Given the description of an element on the screen output the (x, y) to click on. 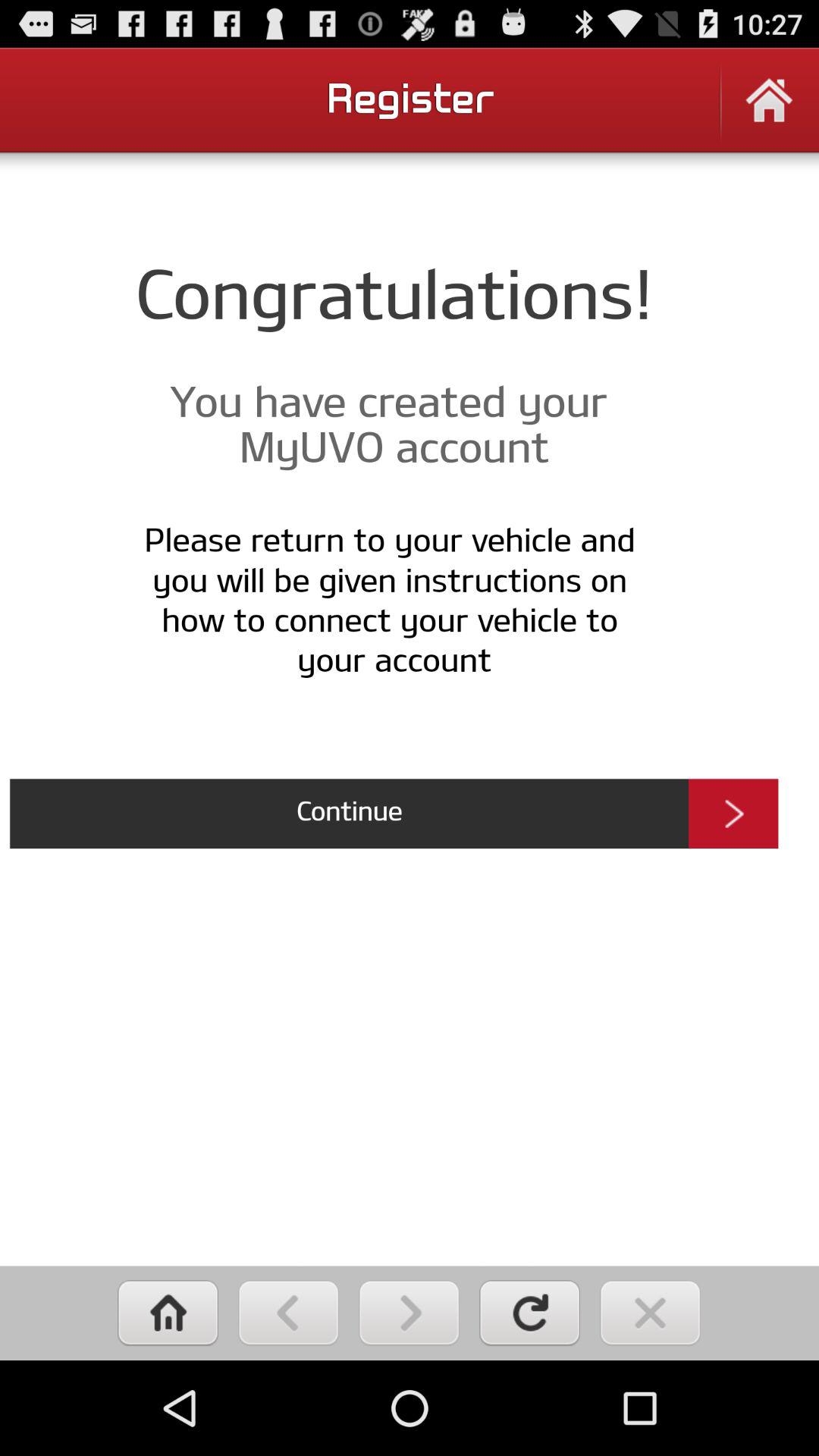
move forward (408, 1313)
